Given the description of an element on the screen output the (x, y) to click on. 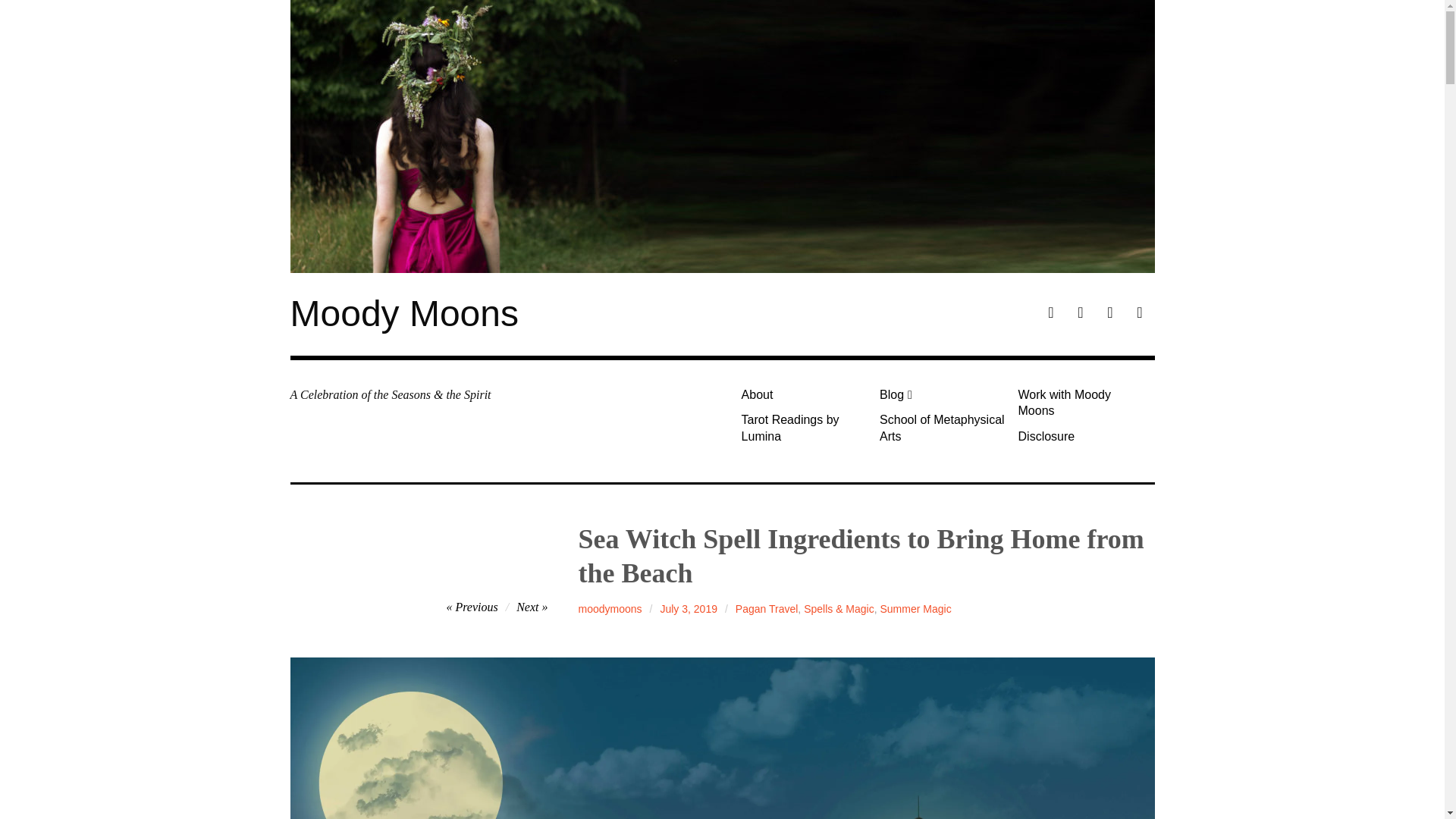
Twitter (1138, 313)
moodymoons (610, 608)
Disclosure (1080, 436)
About (804, 394)
Next (531, 606)
School of Metaphysical Arts (942, 427)
Pagan Travel (766, 608)
Pinterest (1079, 313)
Previous (471, 606)
Summer Magic (914, 608)
Moody Moons (403, 313)
July 3, 2019 (688, 608)
Facebook (1051, 313)
Instagram (1109, 313)
